Given the description of an element on the screen output the (x, y) to click on. 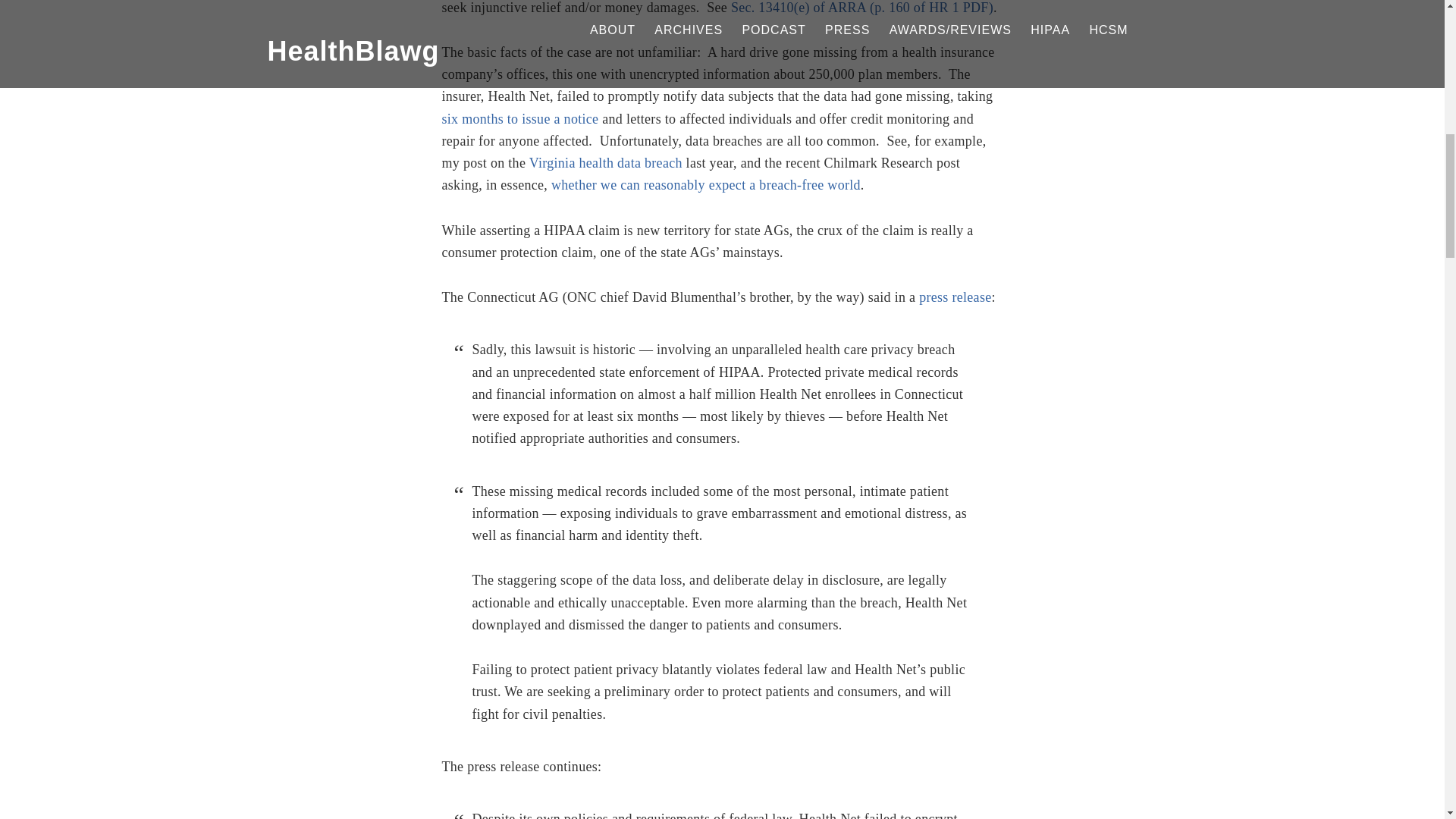
whether we can reasonably expect a breach-free world (705, 184)
Virginia health data breach (605, 162)
six months to issue a notice (519, 118)
press release (954, 296)
